Given the description of an element on the screen output the (x, y) to click on. 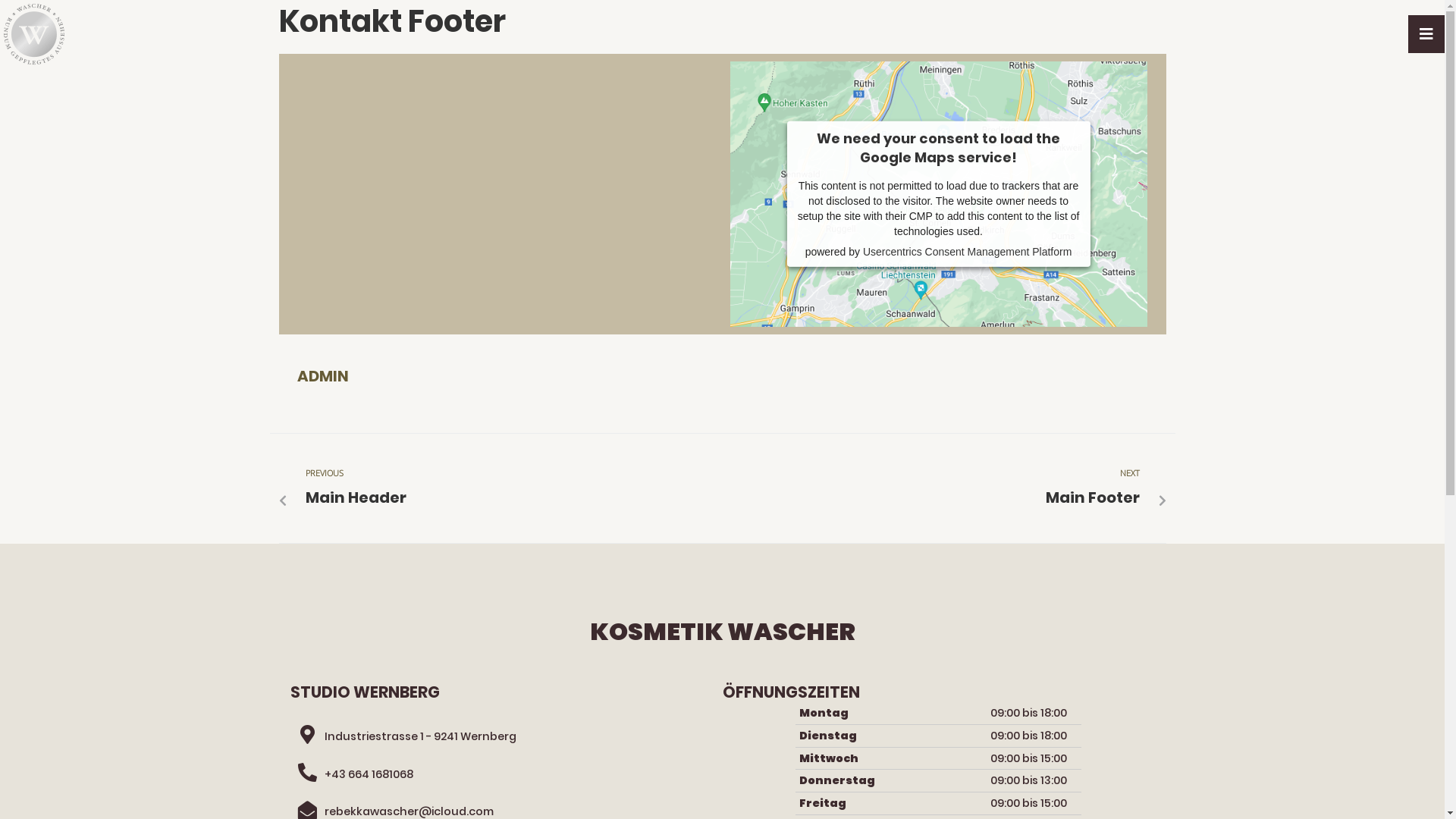
+43 664 1681068 Element type: text (368, 773)
ADMIN Element type: text (322, 375)
Usercentrics Consent Management Platform Element type: text (966, 251)
PREVIOUS
Main Header Element type: text (507, 487)
NEXT
Main Footer Element type: text (936, 487)
Industriestrasse 1 - 9241 Wernberg Element type: text (420, 735)
